Given the description of an element on the screen output the (x, y) to click on. 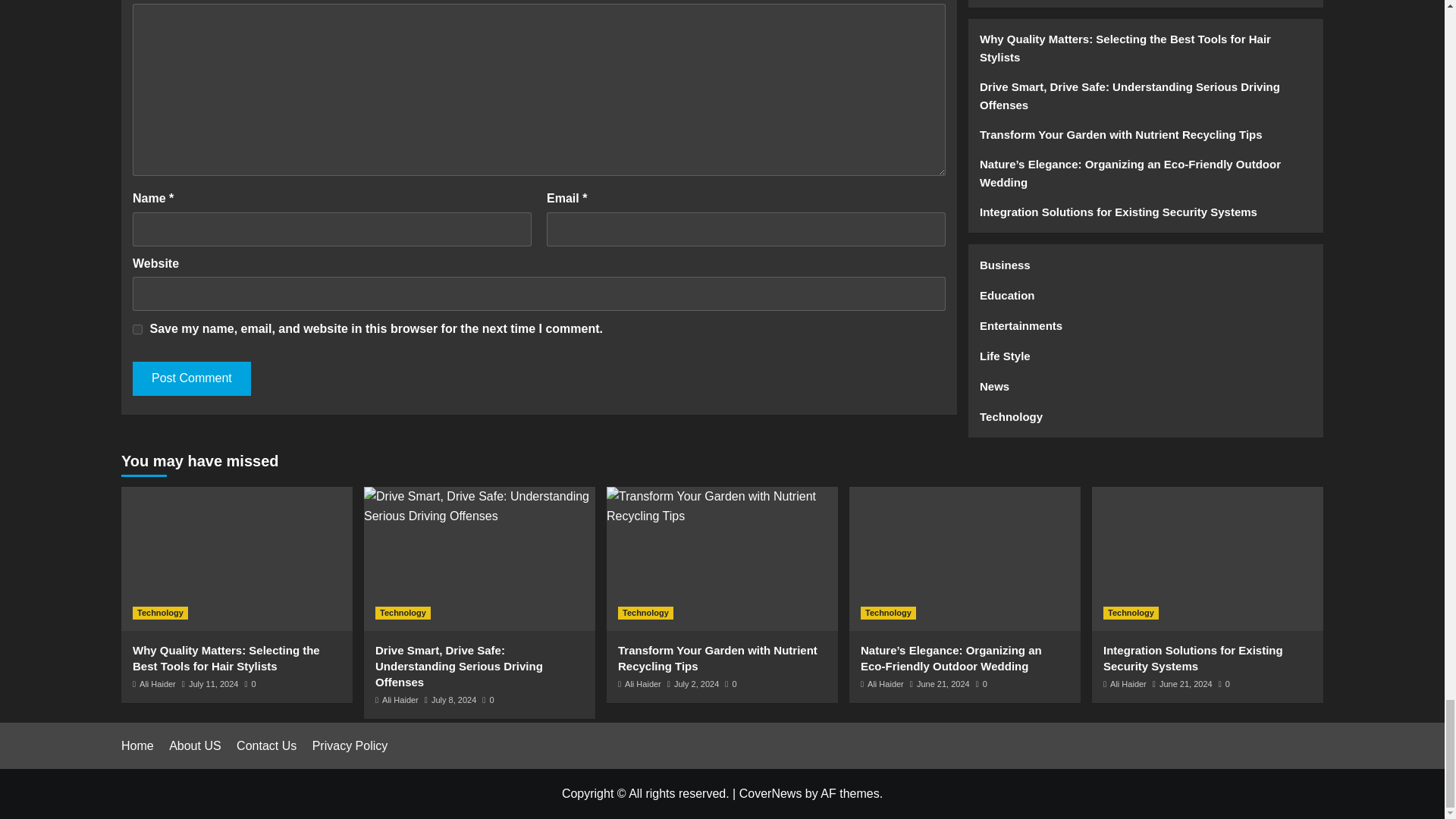
Post Comment (191, 378)
yes (137, 329)
